Given the description of an element on the screen output the (x, y) to click on. 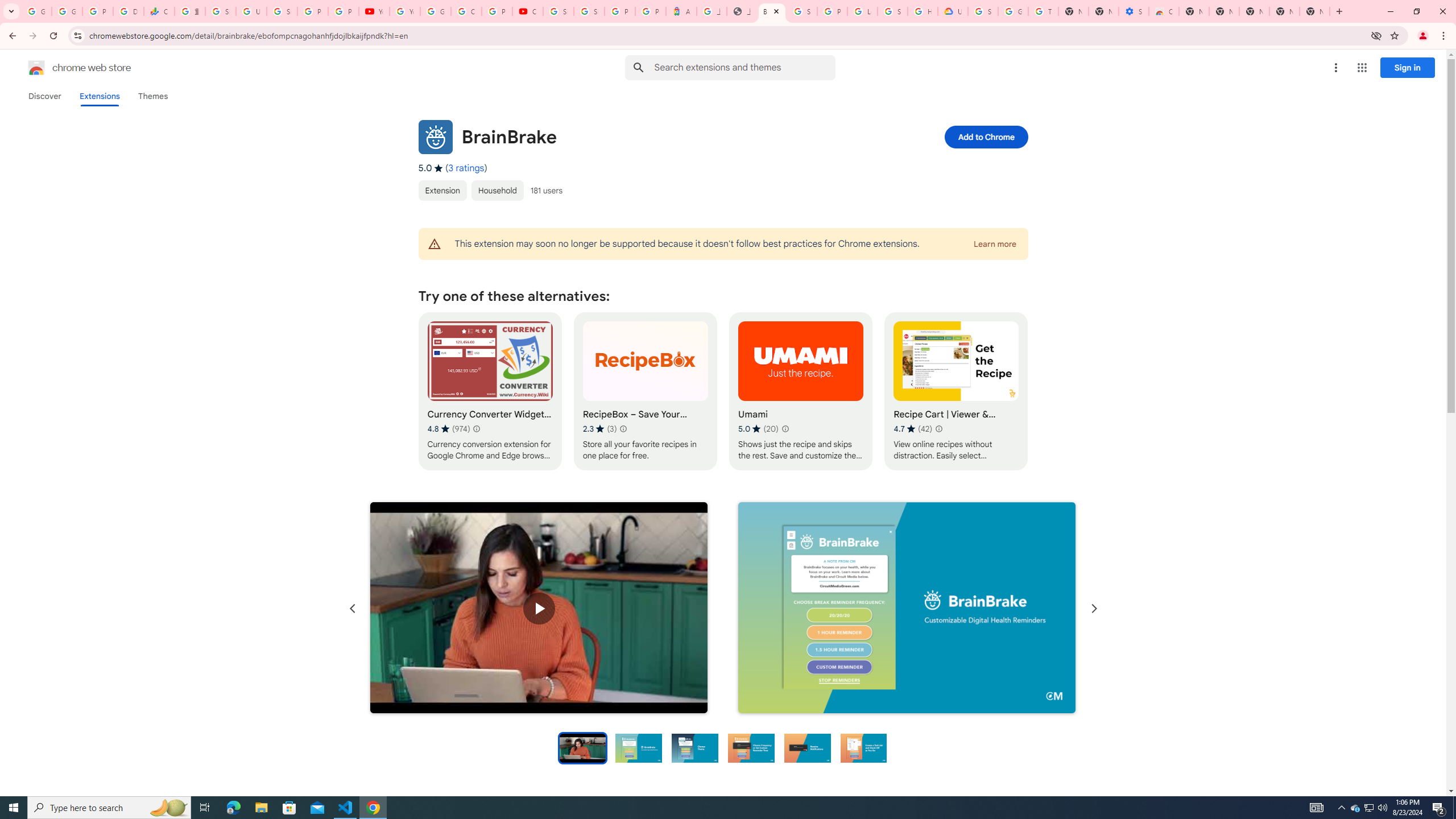
Sign in - Google Accounts (892, 11)
Chrome Web Store logo chrome web store (67, 67)
Preview slide 2 (638, 747)
Item media 2 screenshot (906, 608)
Item logo image for BrainBrake BrainBrake (645, 136)
Sign in - Google Accounts (801, 11)
Google Workspace Admin Community (36, 11)
Chrome Web Store logo (36, 67)
Item logo image for BrainBrake (434, 136)
